Given the description of an element on the screen output the (x, y) to click on. 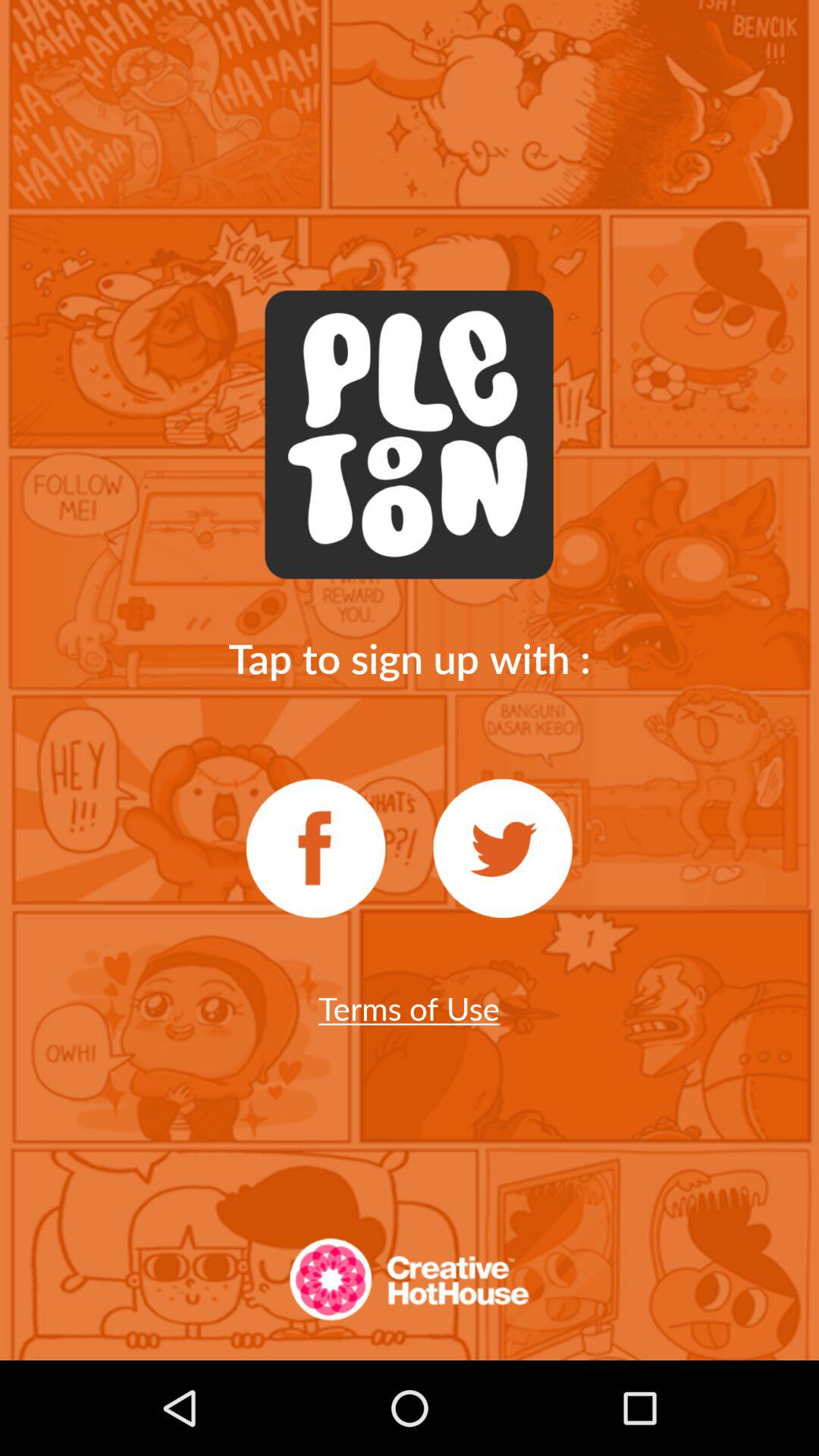
sign up with twitter (502, 848)
